Given the description of an element on the screen output the (x, y) to click on. 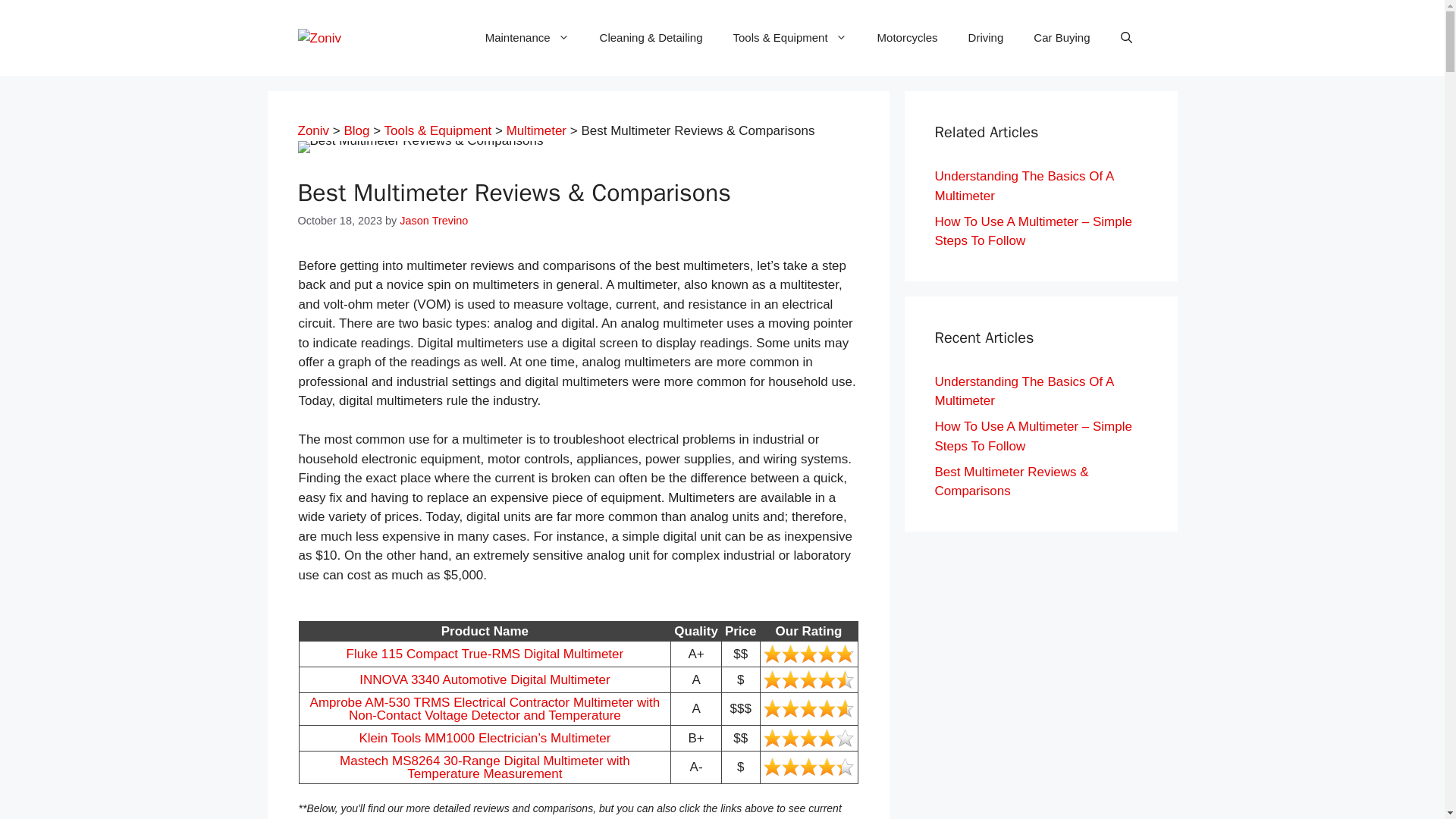
Go to the Multimeter Category archives. (536, 130)
Go to Blog. (356, 130)
Fluke 115 Compact True-RMS Digital Multimeter (485, 653)
Driving (986, 37)
Blog (356, 130)
Jason Trevino (432, 220)
Maintenance (527, 37)
View all posts by Jason Trevino (432, 220)
Go to Zoniv. (313, 130)
Motorcycles (907, 37)
INNOVA 3340 Automotive Digital Multimeter (484, 679)
Zoniv (313, 130)
Multimeter (536, 130)
